Given the description of an element on the screen output the (x, y) to click on. 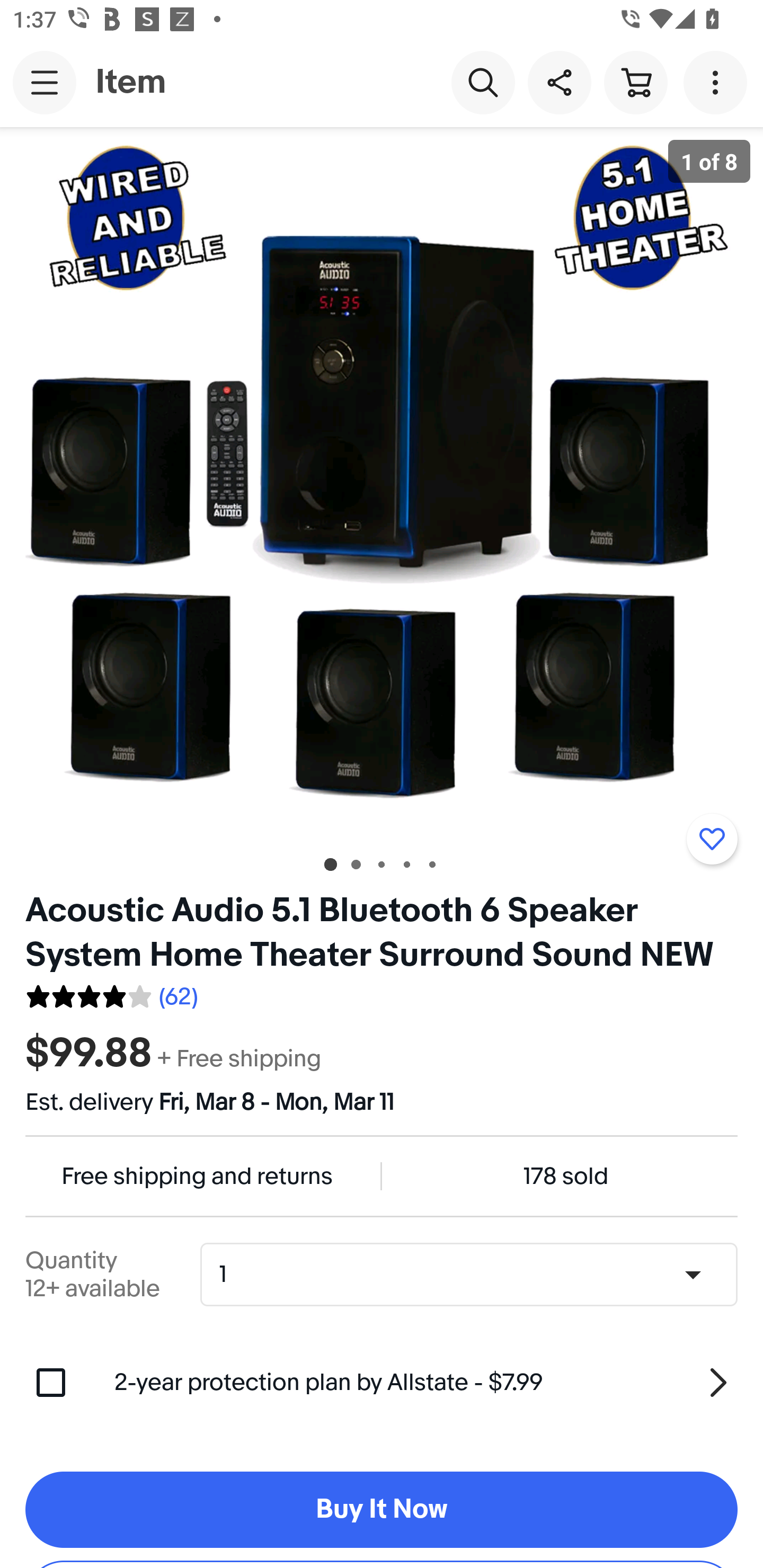
Main navigation, open (44, 82)
Search (482, 81)
Share this item (559, 81)
Cart button shopping cart (635, 81)
More options (718, 81)
Item image 1 of 8 (381, 482)
Add to watchlist (711, 838)
Quantity,1,12+ available 1 (474, 1274)
2-year protection plan by Allstate - $7.99 (425, 1382)
Buy It Now (381, 1509)
